Given the description of an element on the screen output the (x, y) to click on. 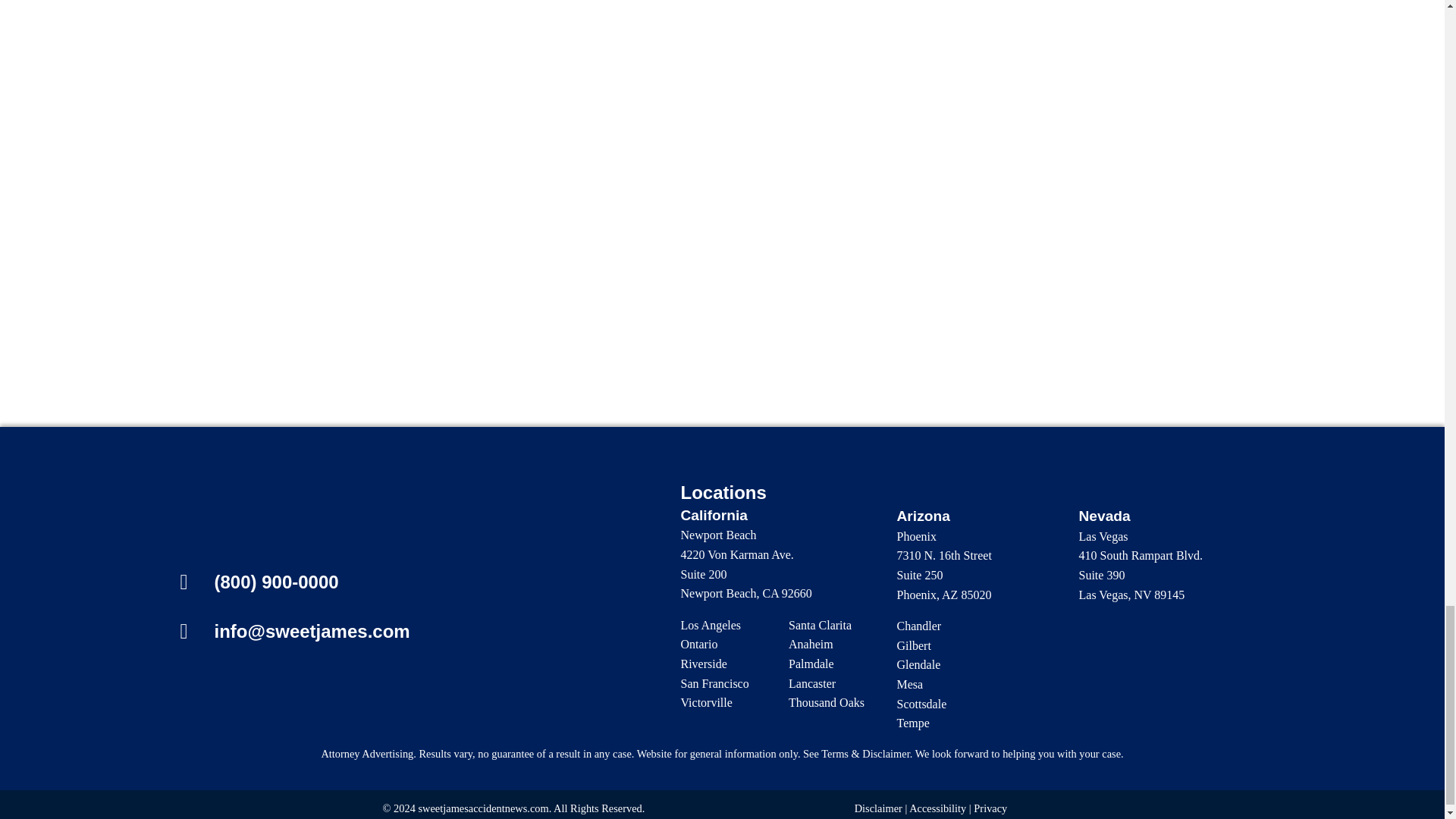
Victorville (706, 702)
Disclaimer (878, 808)
Phoenix (916, 535)
Accessibility (937, 808)
Privacy (990, 808)
Newport Beach (719, 534)
Las Vegas (1102, 535)
San Francisco (715, 683)
Los Angeles (711, 625)
